Given the description of an element on the screen output the (x, y) to click on. 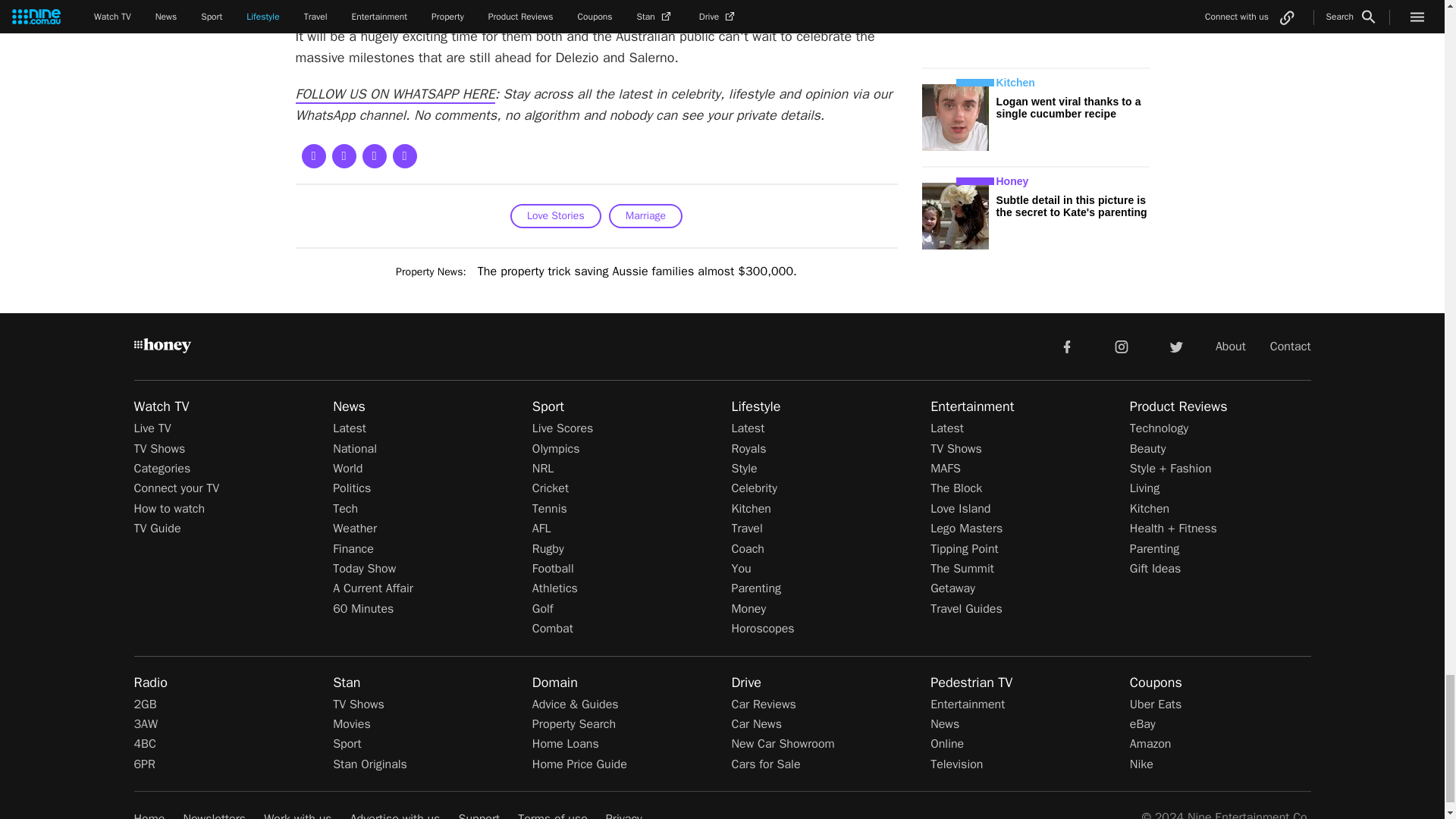
instagram (1121, 345)
Love Stories (556, 215)
FOLLOW US ON WHATSAPP HERE (395, 94)
twitter (1175, 345)
facebook (1066, 345)
Marriage (645, 215)
